Given the description of an element on the screen output the (x, y) to click on. 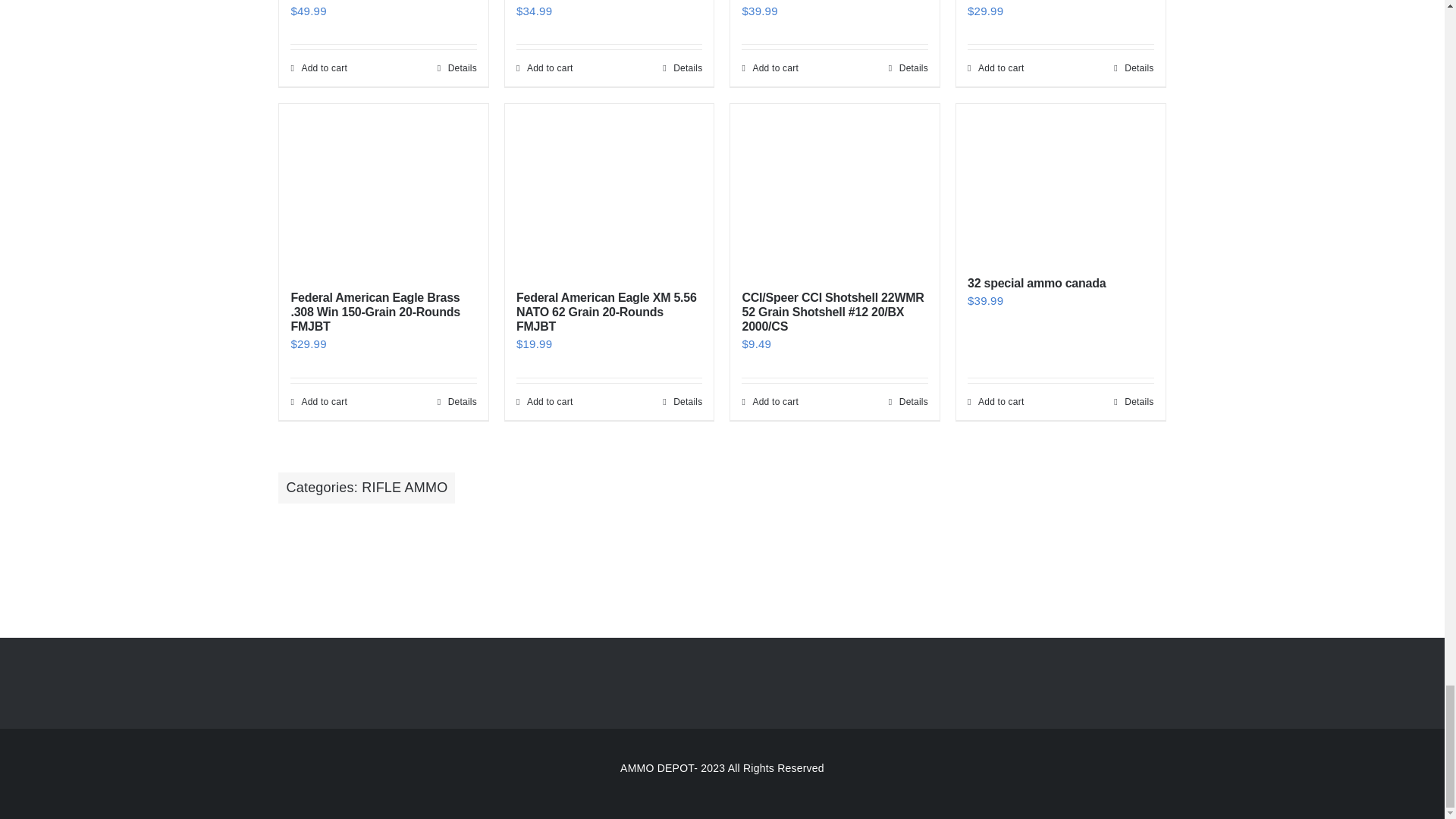
Details (908, 68)
Add to cart (544, 68)
Add to cart (318, 68)
Add to cart (769, 68)
Details (681, 68)
Details (457, 68)
